Given the description of an element on the screen output the (x, y) to click on. 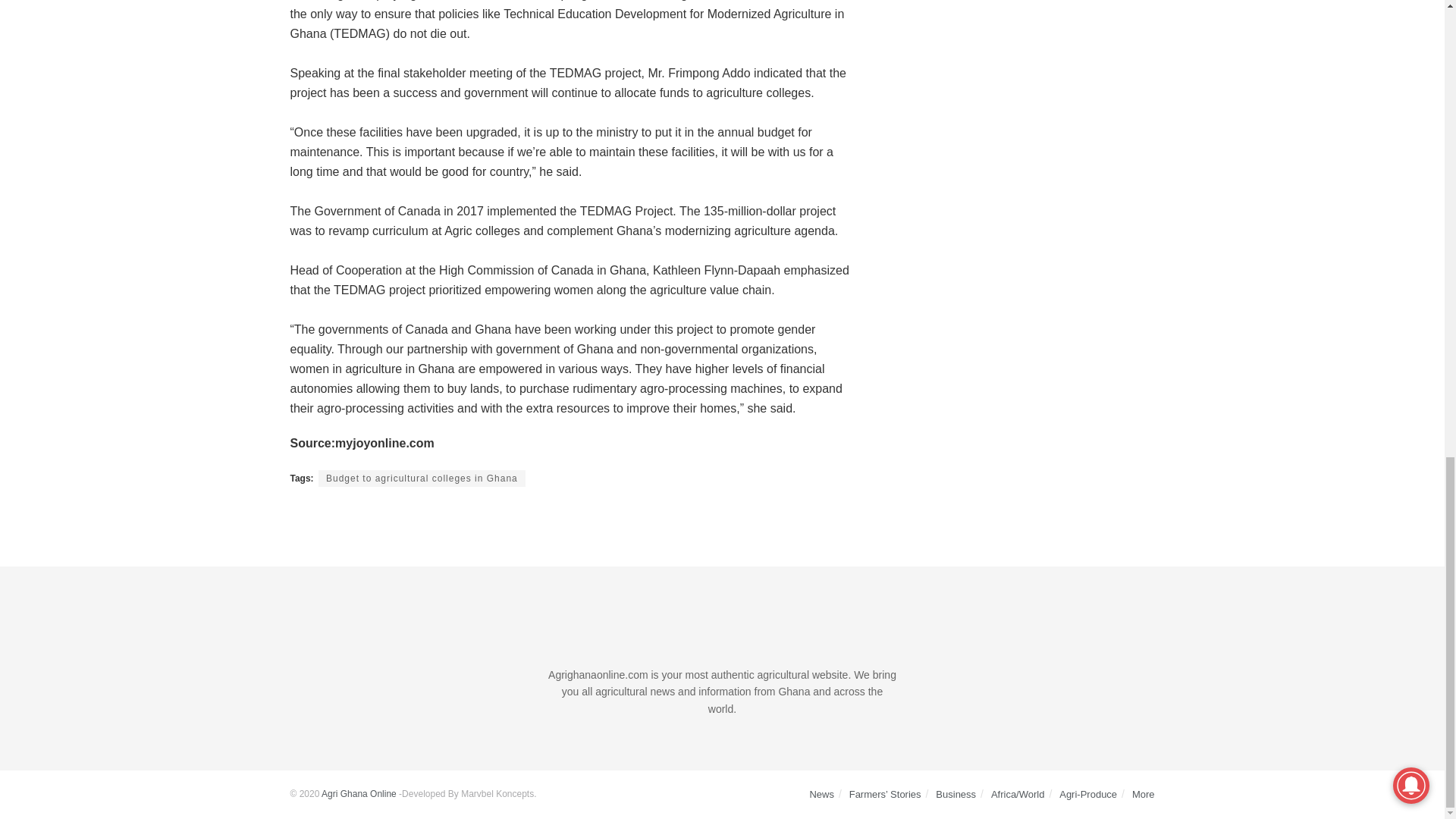
Agri Ghana Online (358, 793)
